Given the description of an element on the screen output the (x, y) to click on. 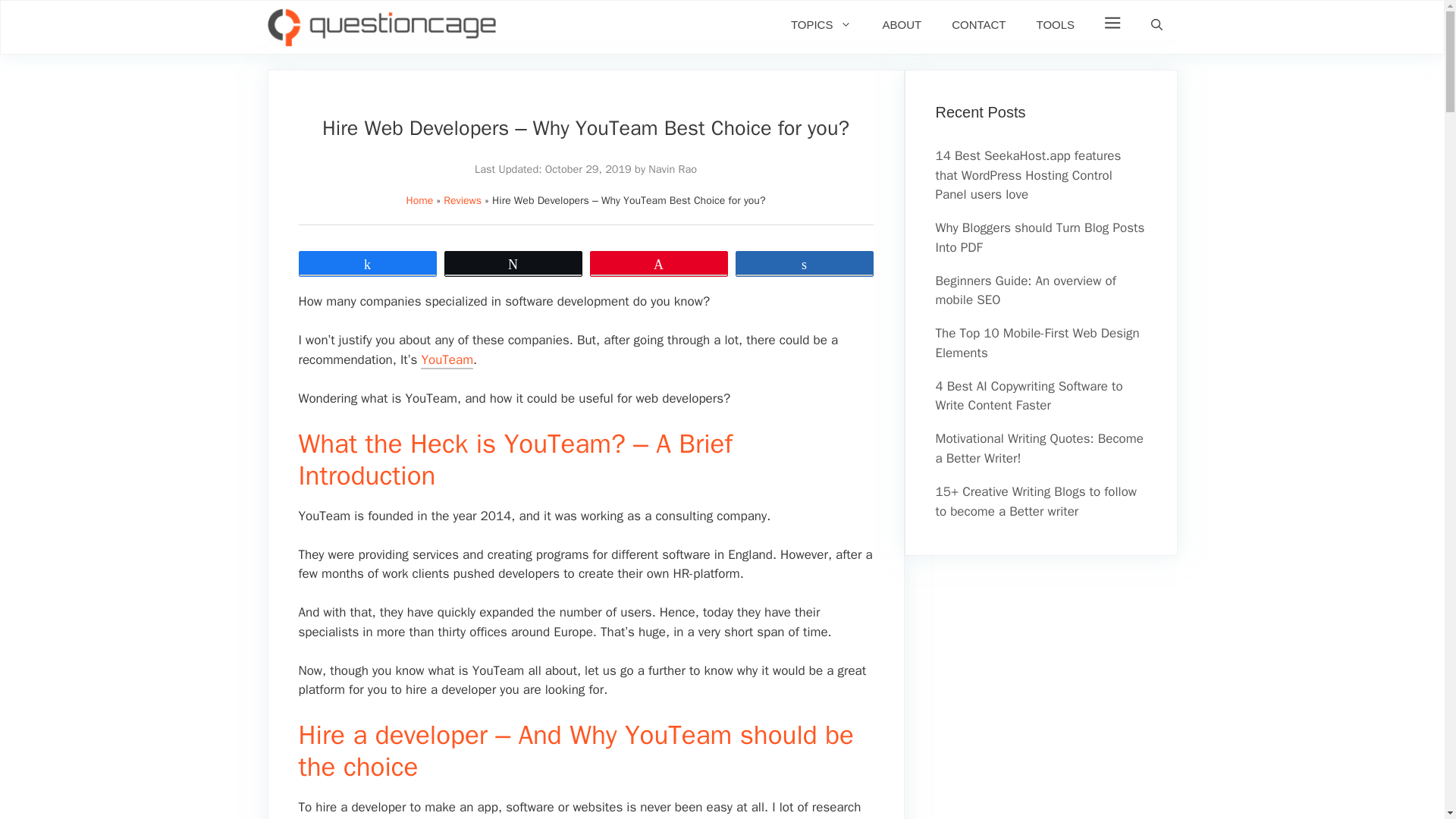
Reviews (462, 200)
ABOUT (901, 24)
View all posts by Navin Rao (672, 169)
TOPICS (821, 24)
TOOLS (1056, 24)
QuestionCage (381, 27)
CONTACT (978, 24)
Navin Rao (672, 169)
Home (419, 200)
